Given the description of an element on the screen output the (x, y) to click on. 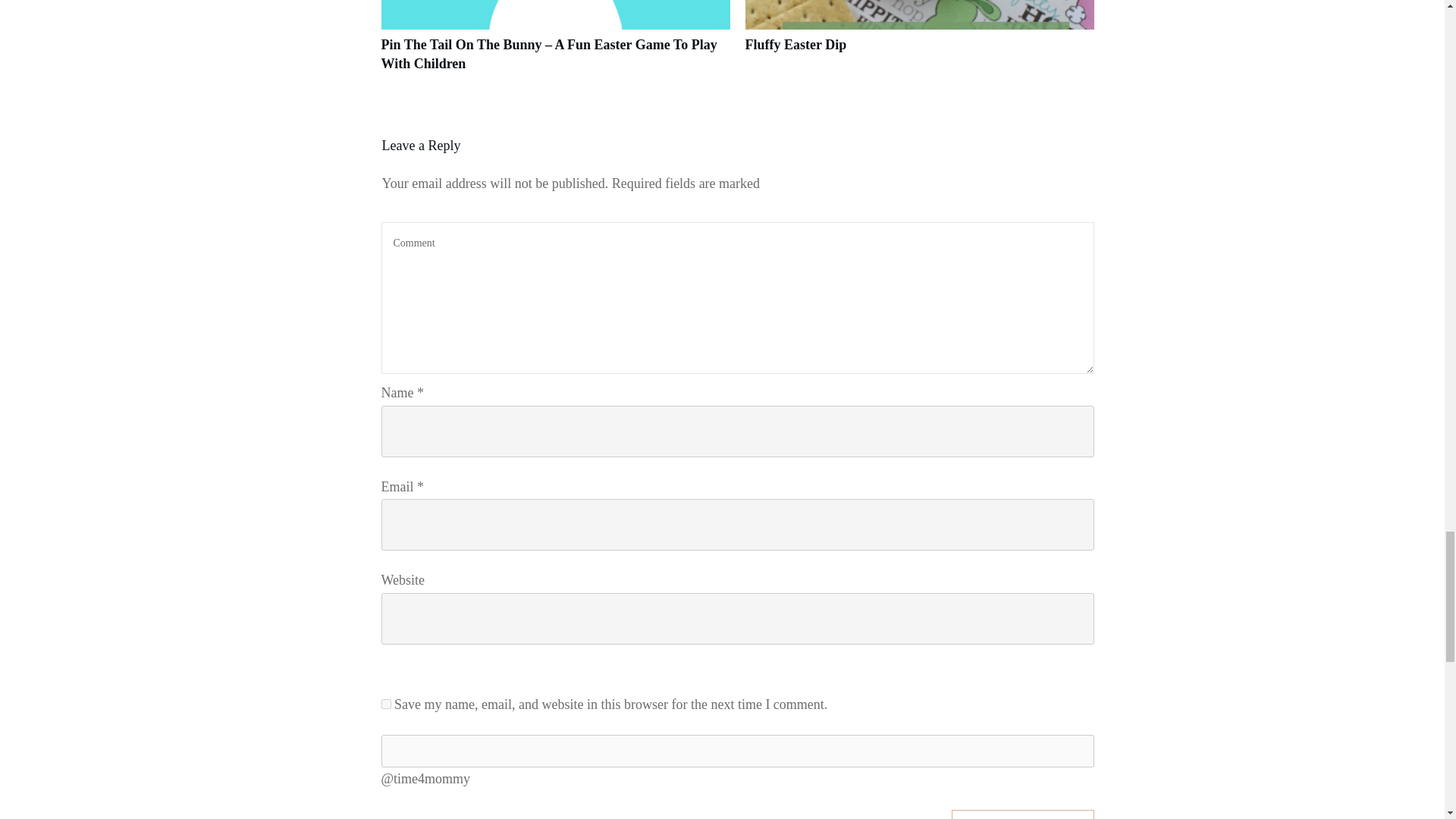
yes (385, 704)
Fluffy Easter Dip (794, 44)
